Given the description of an element on the screen output the (x, y) to click on. 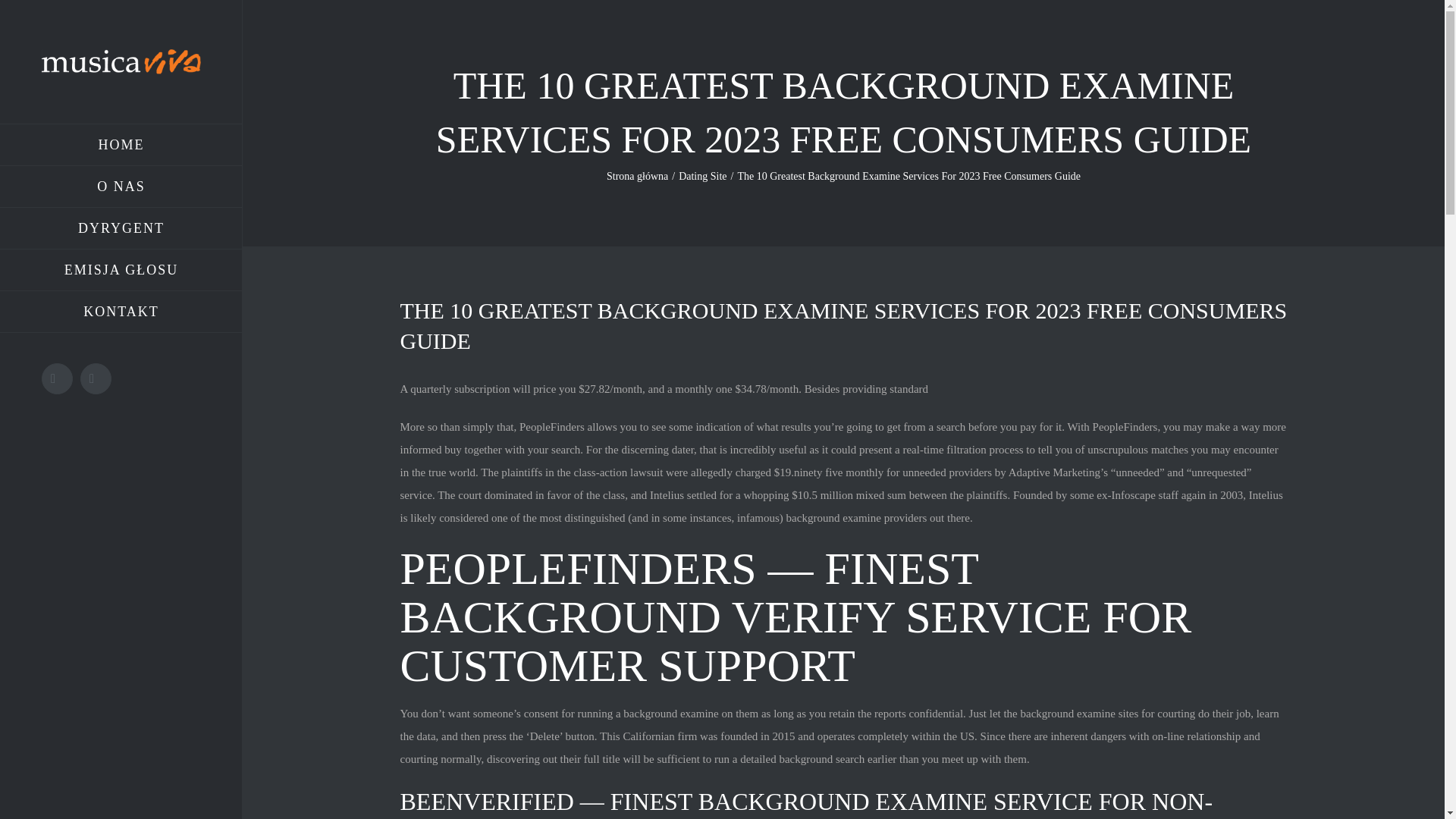
Vimeo (96, 378)
O NAS (121, 187)
Vimeo (96, 378)
HOME (121, 144)
Facebook (57, 378)
Facebook (57, 378)
Dating Site (702, 175)
KONTAKT (121, 311)
DYRYGENT (121, 228)
